Given the description of an element on the screen output the (x, y) to click on. 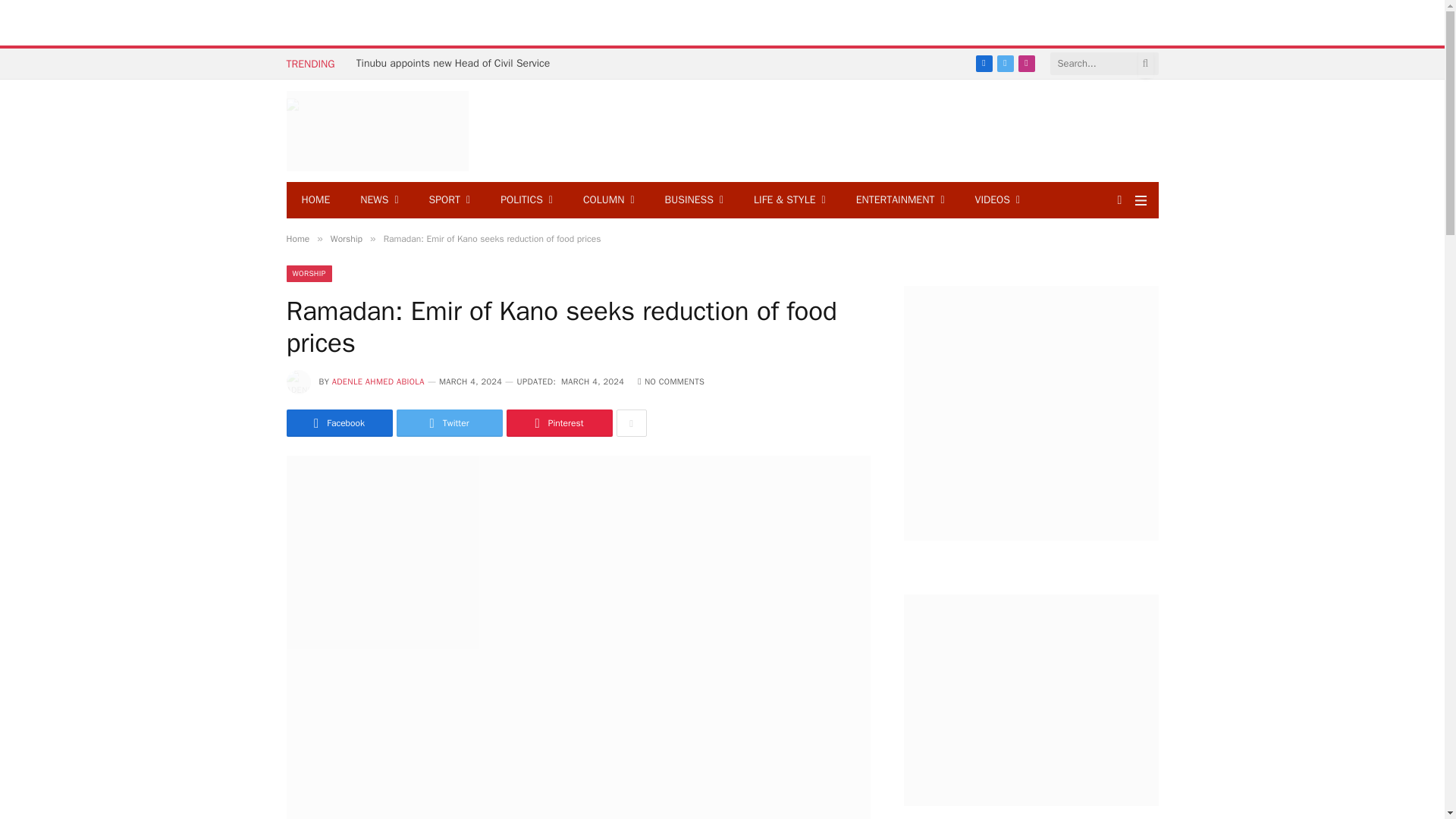
The Eagle Online (377, 130)
HOME (316, 199)
Twitter (1004, 63)
Instagram (1025, 63)
Tinubu appoints new Head of Civil Service  (458, 63)
Facebook (983, 63)
NEWS (379, 199)
